Given the description of an element on the screen output the (x, y) to click on. 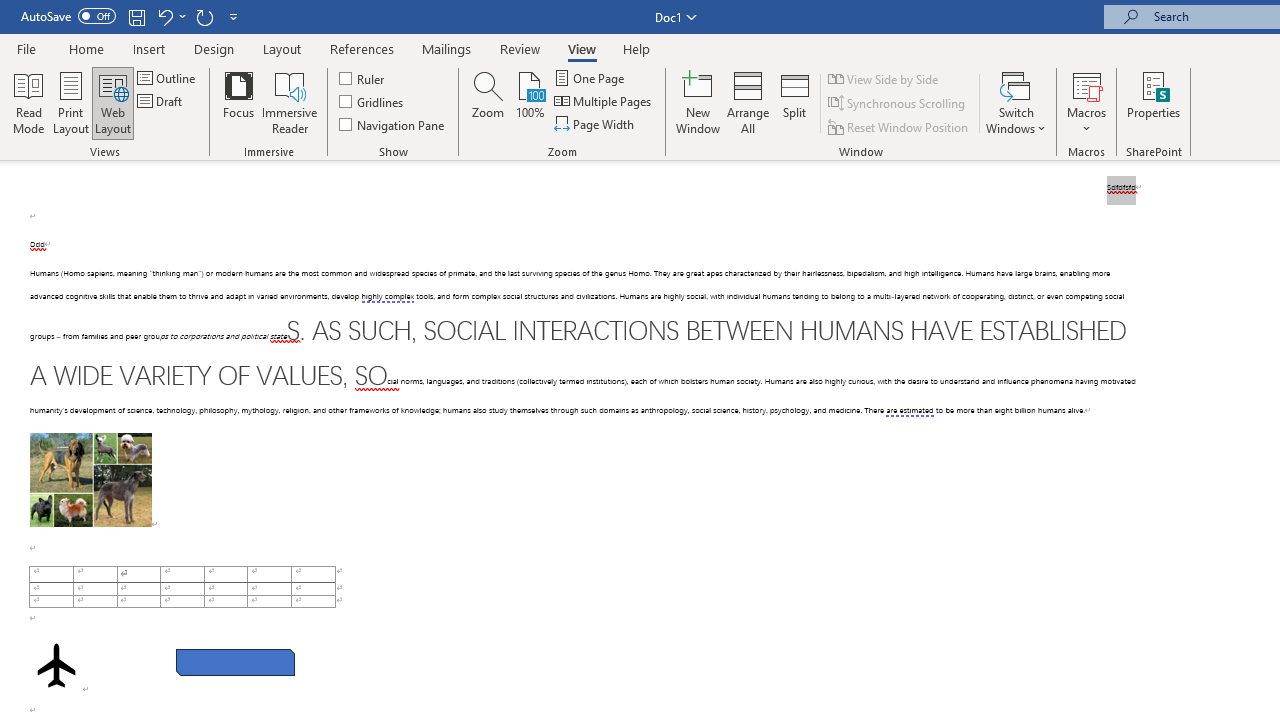
Page Width (595, 124)
Airplane with solid fill (56, 665)
Zoom... (488, 102)
Split (795, 102)
100% (529, 102)
Synchronous Scrolling (898, 103)
Rectangle: Diagonal Corners Snipped 2 (235, 662)
Repeat Paragraph Alignment (204, 15)
Ruler (362, 78)
